Given the description of an element on the screen output the (x, y) to click on. 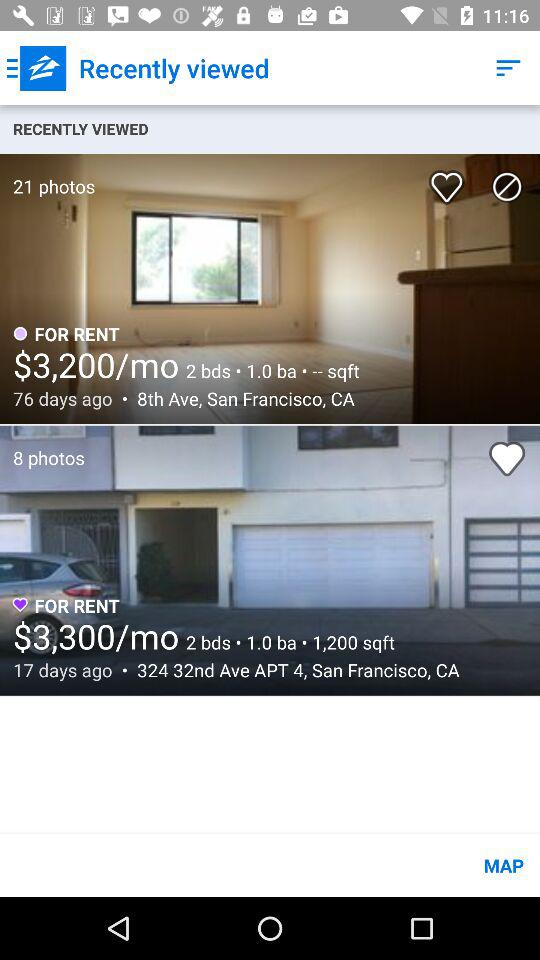
choose 324 32nd ave (292, 669)
